Given the description of an element on the screen output the (x, y) to click on. 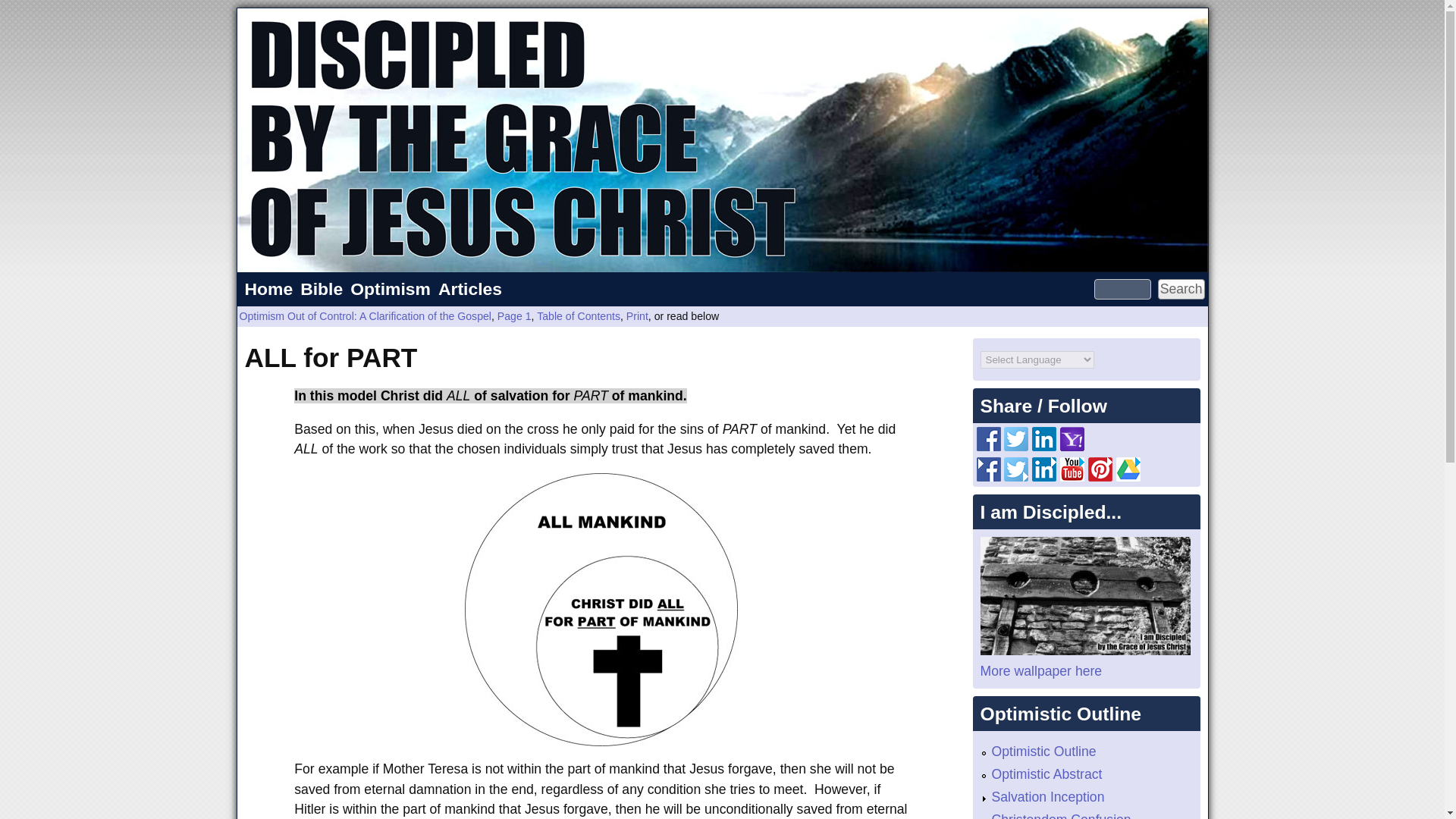
Bookmark this post on Yahoo (1071, 446)
Visit My Twitter (1015, 476)
Optimistic Outline (1043, 751)
Visit My Youtube (1071, 476)
Table of Contents (578, 316)
Publish this post to LinkedIn (1044, 446)
Share this on Twitter (1015, 446)
Optimism (389, 288)
Salvation Inception (1048, 796)
Search (1181, 289)
Christendom Confusion (1061, 815)
Optimistic Abstract (1046, 774)
Visit My Pinterest (1099, 476)
Print (636, 316)
